Given the description of an element on the screen output the (x, y) to click on. 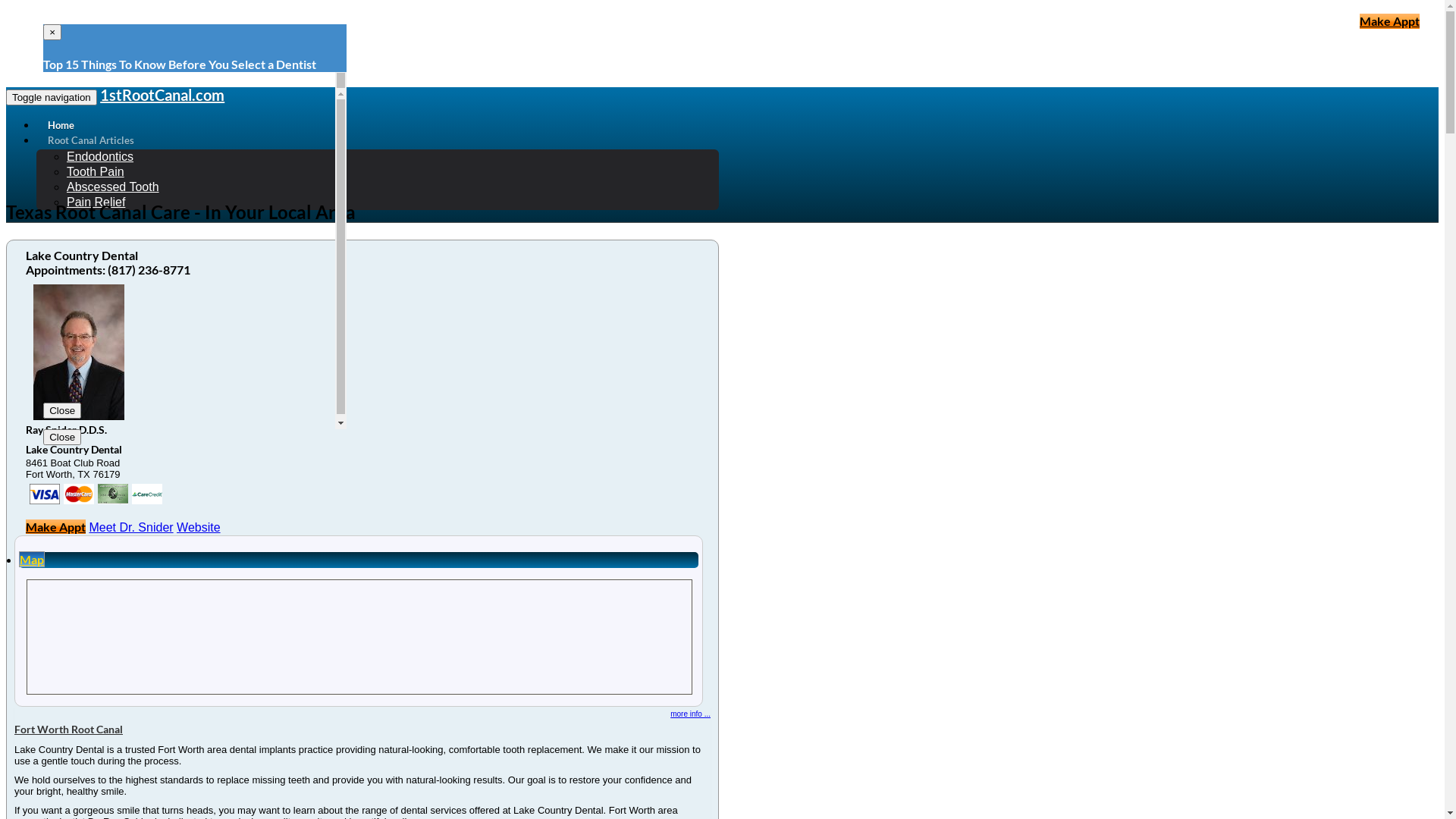
1stRootCanal.com Element type: text (161, 95)
my title Element type: hover (78, 493)
Root Canal Articles Element type: text (90, 139)
Toggle navigation Element type: text (51, 97)
Close Element type: text (62, 437)
Website Element type: text (198, 526)
Make Appt Element type: text (1389, 20)
more info ... Element type: text (690, 713)
Endodontics Element type: text (99, 156)
Close Element type: text (62, 410)
Meet Dr. Snider Element type: text (130, 526)
my title Element type: hover (44, 493)
Home Element type: text (60, 124)
Fort Worth Root Canal Element type: text (68, 728)
Map Element type: text (31, 559)
my title Element type: hover (146, 493)
Pain Relief Element type: text (95, 201)
Abscessed Tooth Element type: text (112, 186)
my title Element type: hover (112, 493)
Make Appt Element type: text (55, 526)
Tooth Pain Element type: text (95, 171)
